Given the description of an element on the screen output the (x, y) to click on. 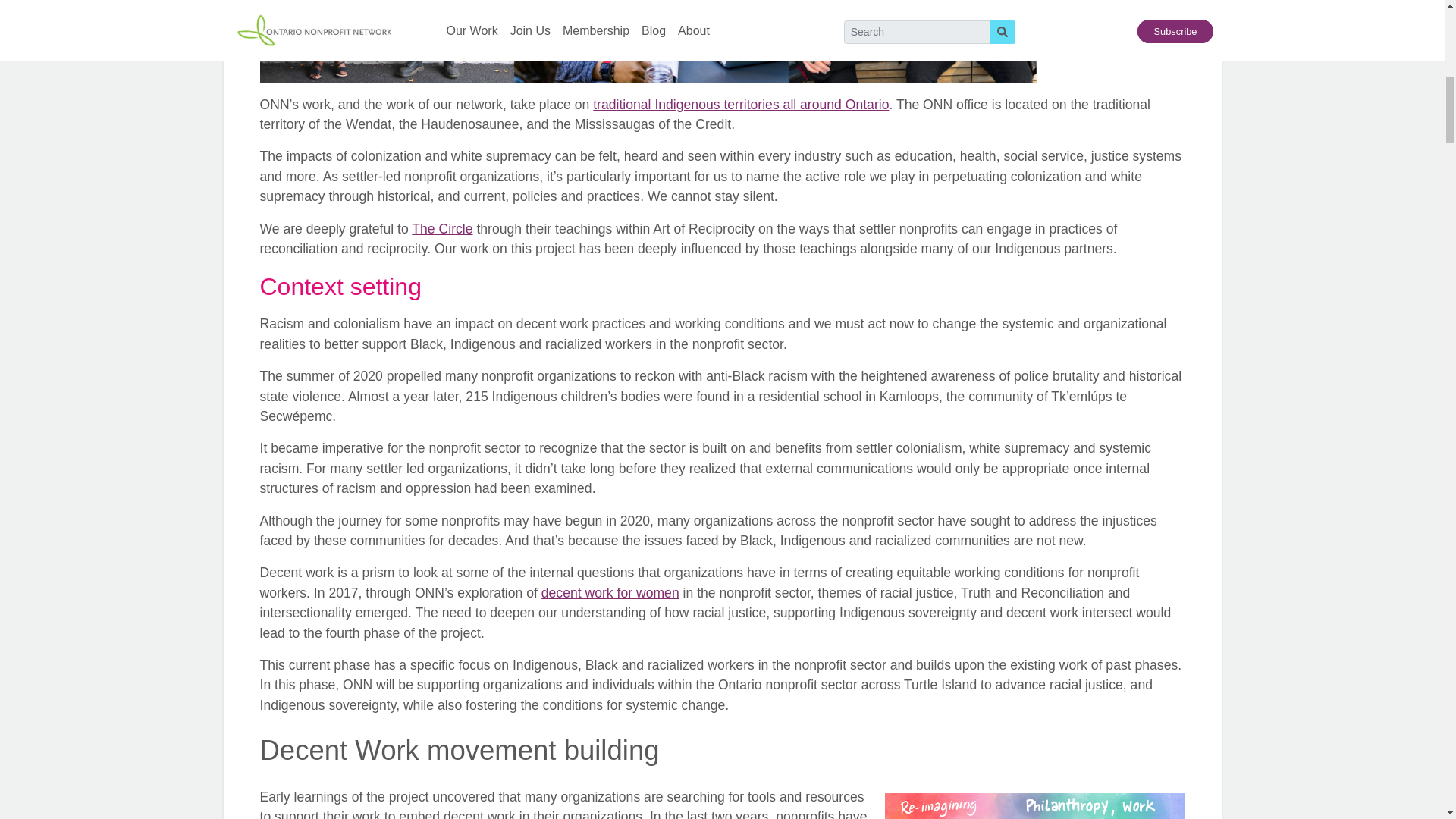
traditional Indigenous territories all around Ontario (740, 104)
decent work for women (610, 592)
The Circle (441, 228)
